Given the description of an element on the screen output the (x, y) to click on. 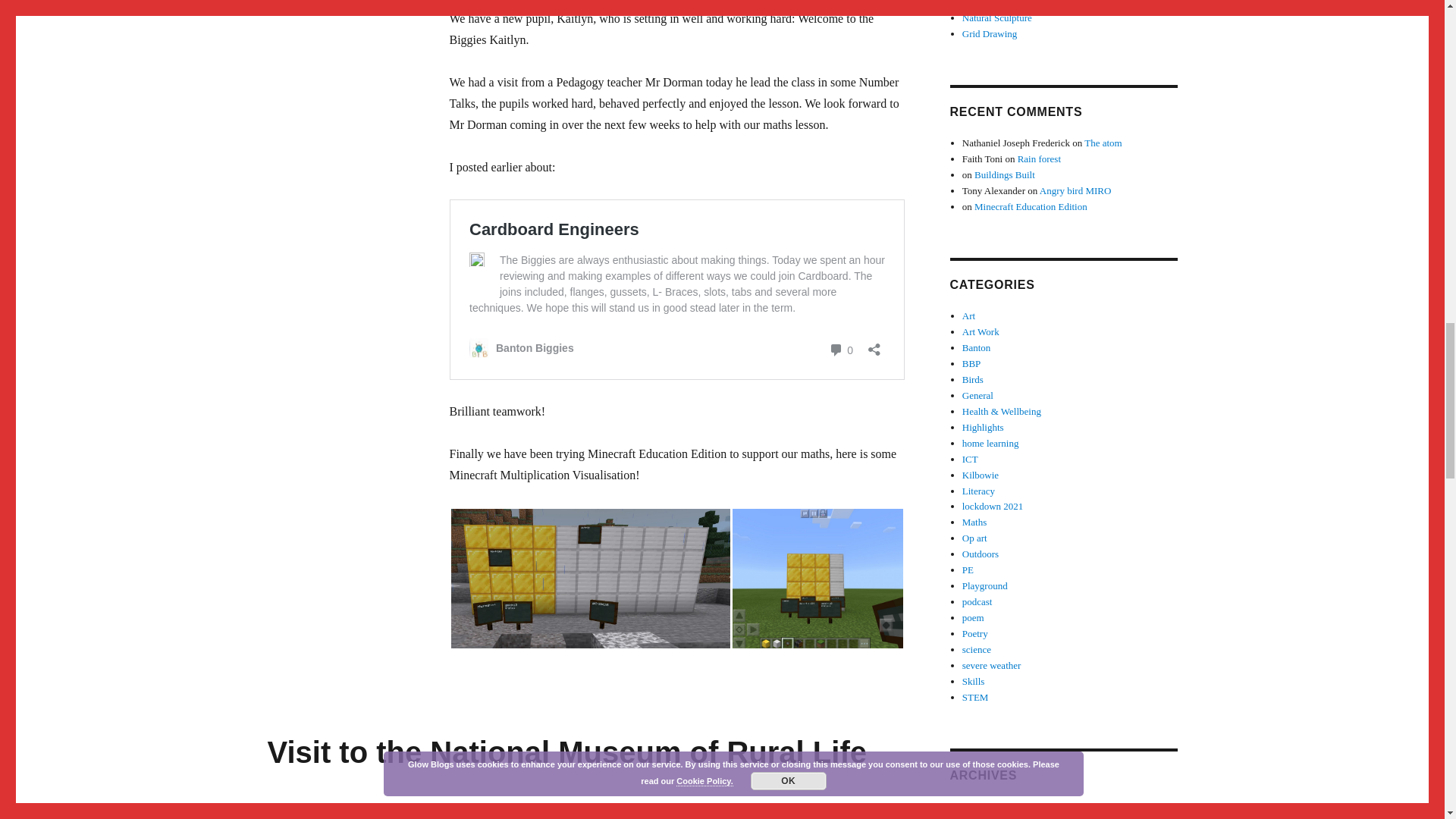
ben-minecraft (817, 578)
rhu-minecraft (589, 578)
Visit to the National Museum of Rural Life (566, 752)
